Given the description of an element on the screen output the (x, y) to click on. 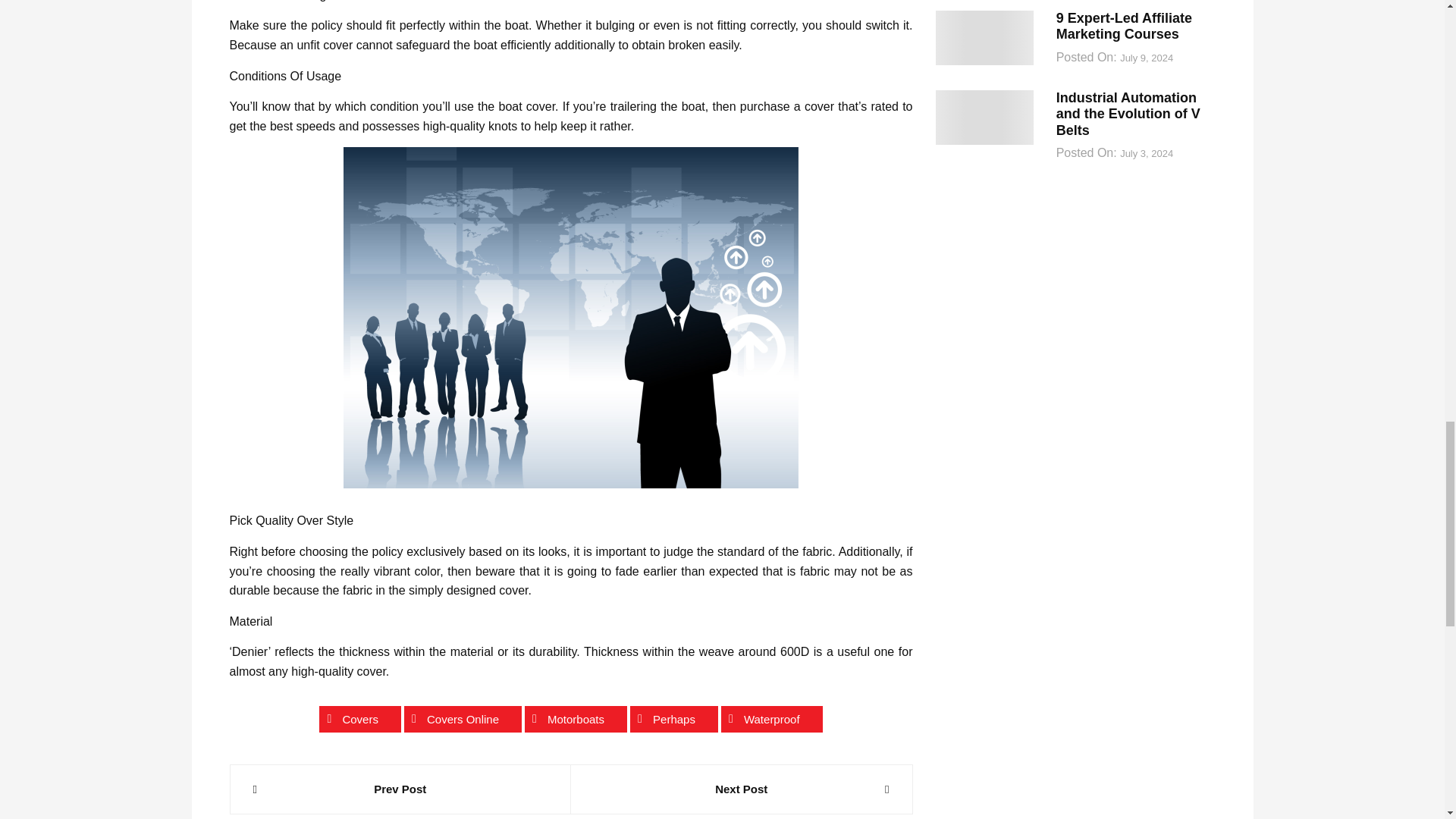
Prev Post (400, 789)
Waterproof (771, 718)
Next Post (741, 789)
Covers (359, 718)
Perhaps (673, 718)
Motorboats (575, 718)
Covers Online (462, 718)
